Given the description of an element on the screen output the (x, y) to click on. 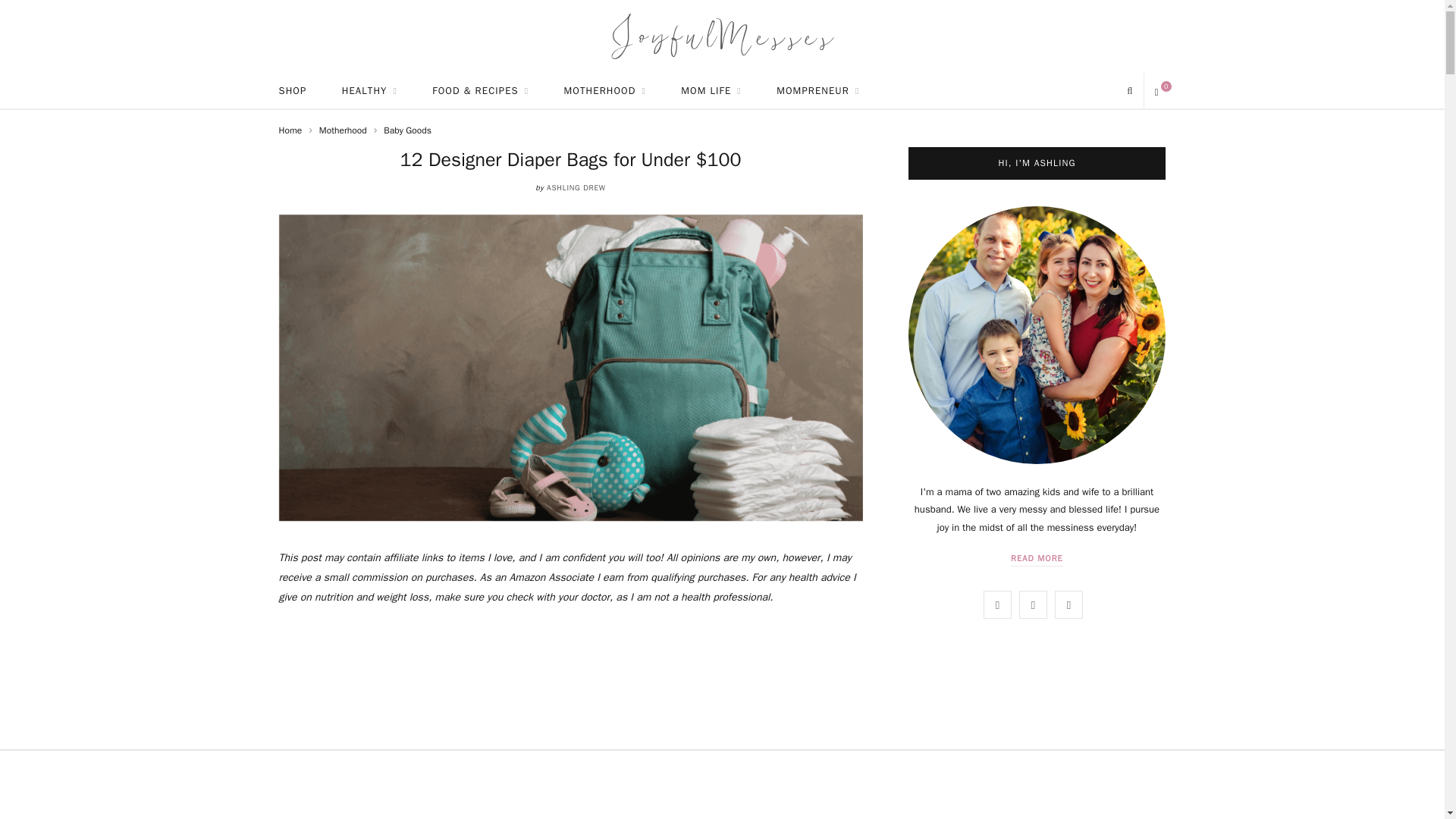
Home (290, 130)
MOM LIFE (711, 90)
MOTHERHOOD (605, 90)
HEALTHY (369, 90)
Motherhood (342, 130)
Joyful Messes (721, 36)
MOMPRENEUR (817, 90)
Baby Goods (407, 130)
Posts by Ashling Drew (576, 187)
SHOP (291, 90)
ASHLING DREW (576, 187)
